Given the description of an element on the screen output the (x, y) to click on. 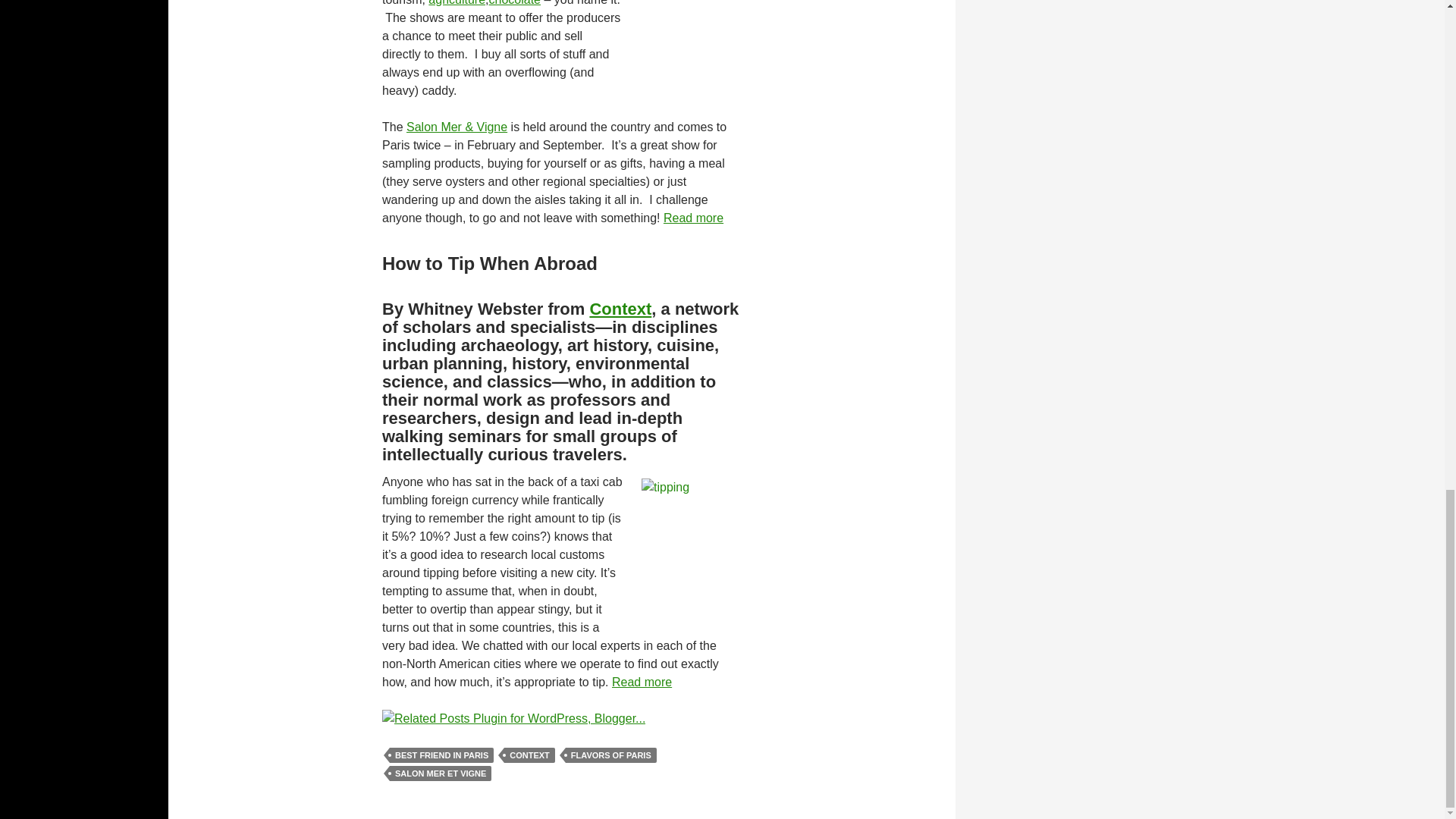
Context (619, 307)
Read more (641, 680)
chocolate (513, 2)
agriculture (456, 2)
Read more (693, 216)
